Given the description of an element on the screen output the (x, y) to click on. 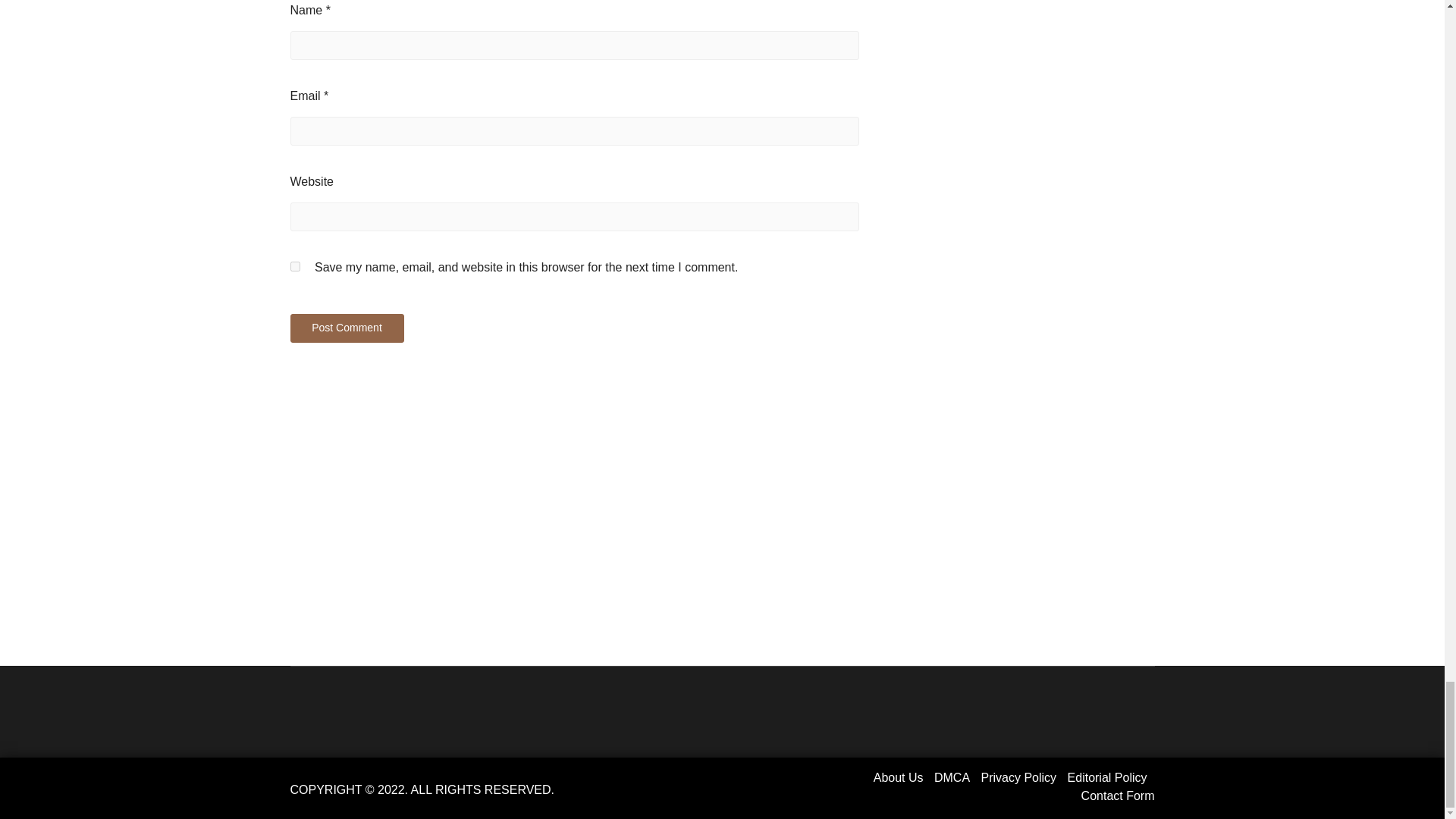
yes (294, 266)
Post Comment (346, 328)
Post Comment (346, 328)
